Given the description of an element on the screen output the (x, y) to click on. 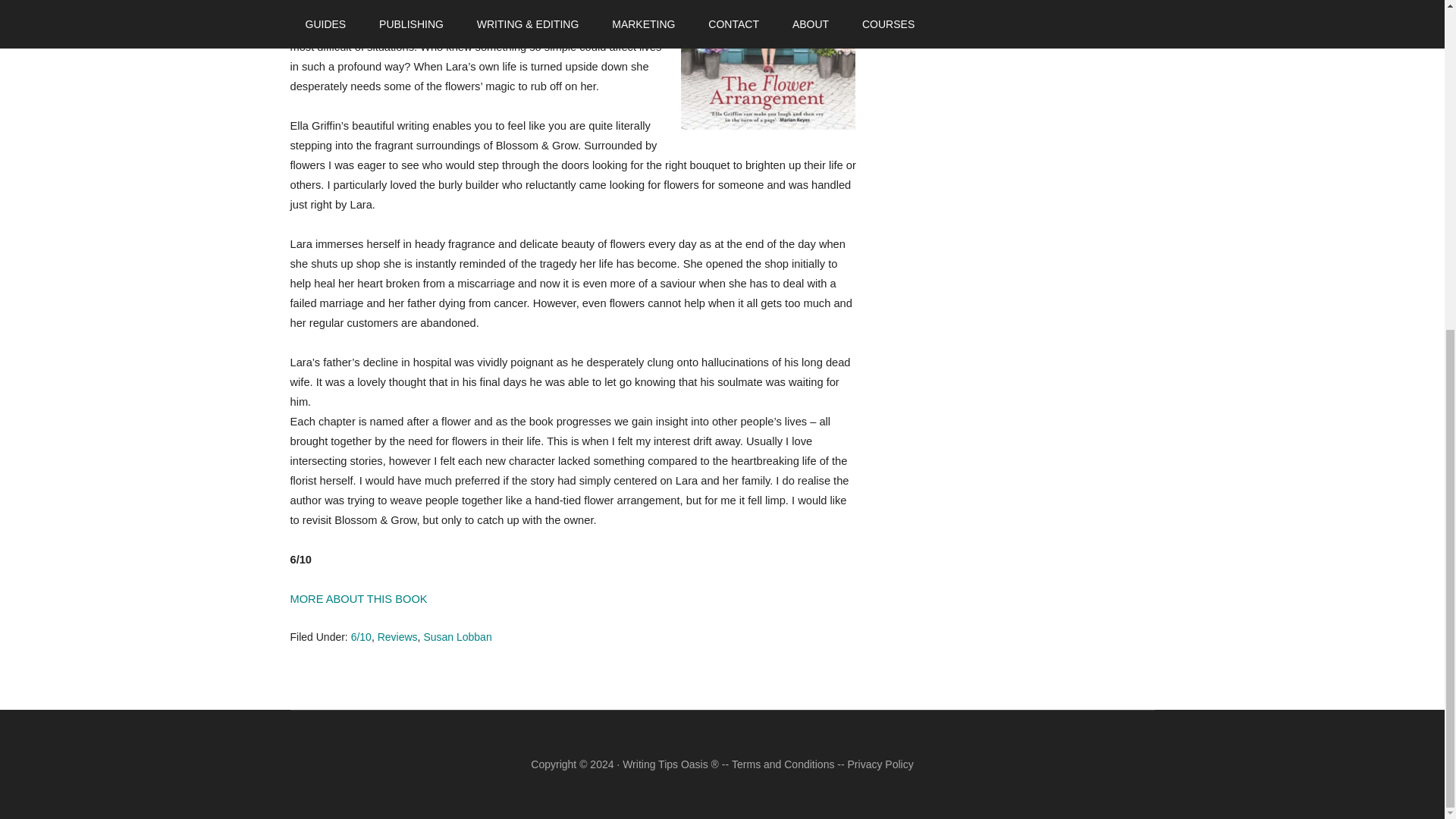
The Flower Arrangement by Ella Griffin (768, 66)
Terms and Conditions (783, 764)
Susan Lobban (457, 636)
Reviews (397, 636)
Privacy Policy (880, 764)
MORE ABOUT THIS BOOK (357, 598)
